Given the description of an element on the screen output the (x, y) to click on. 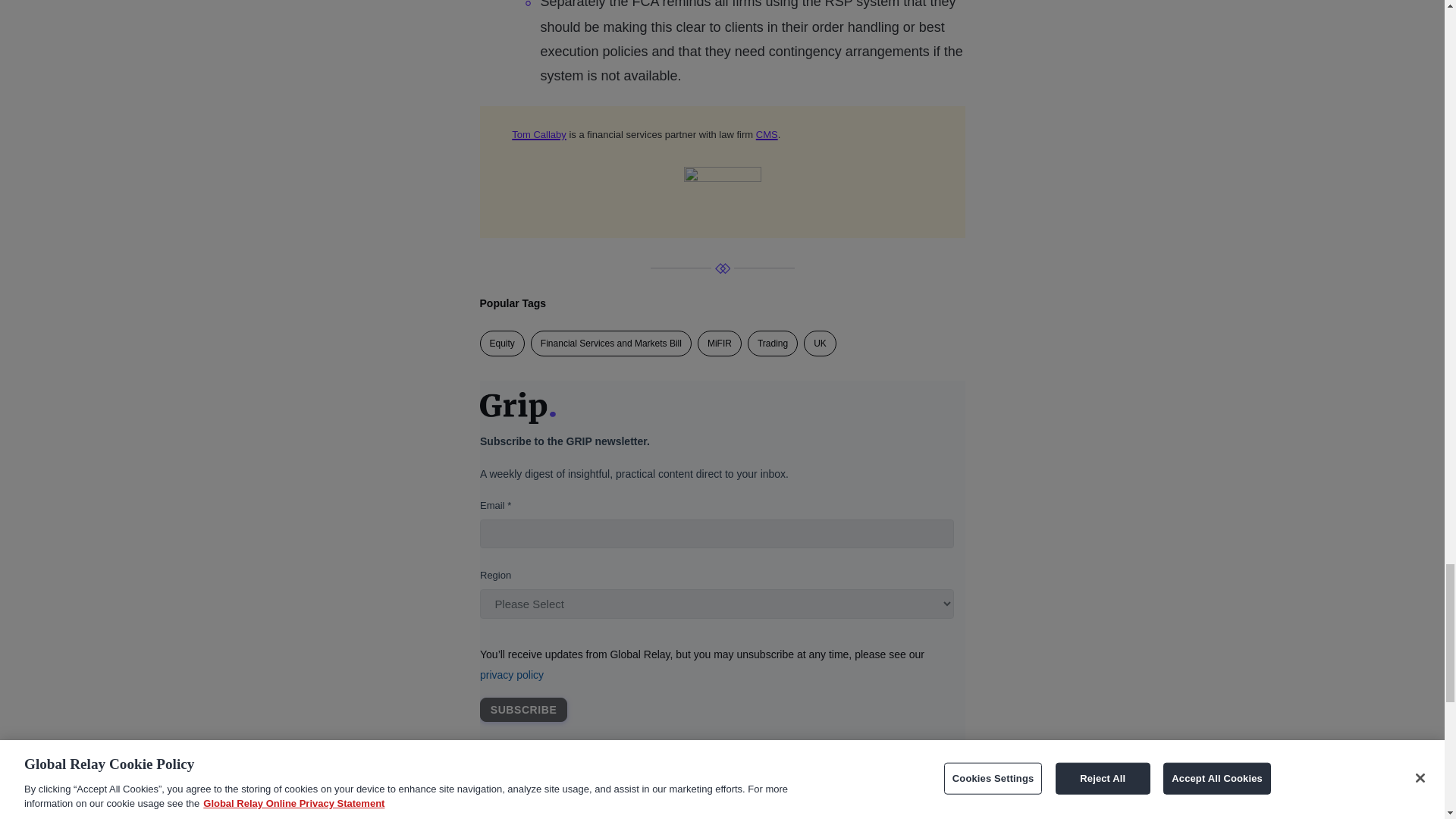
CMS (766, 134)
Tom Callaby (539, 134)
